Given the description of an element on the screen output the (x, y) to click on. 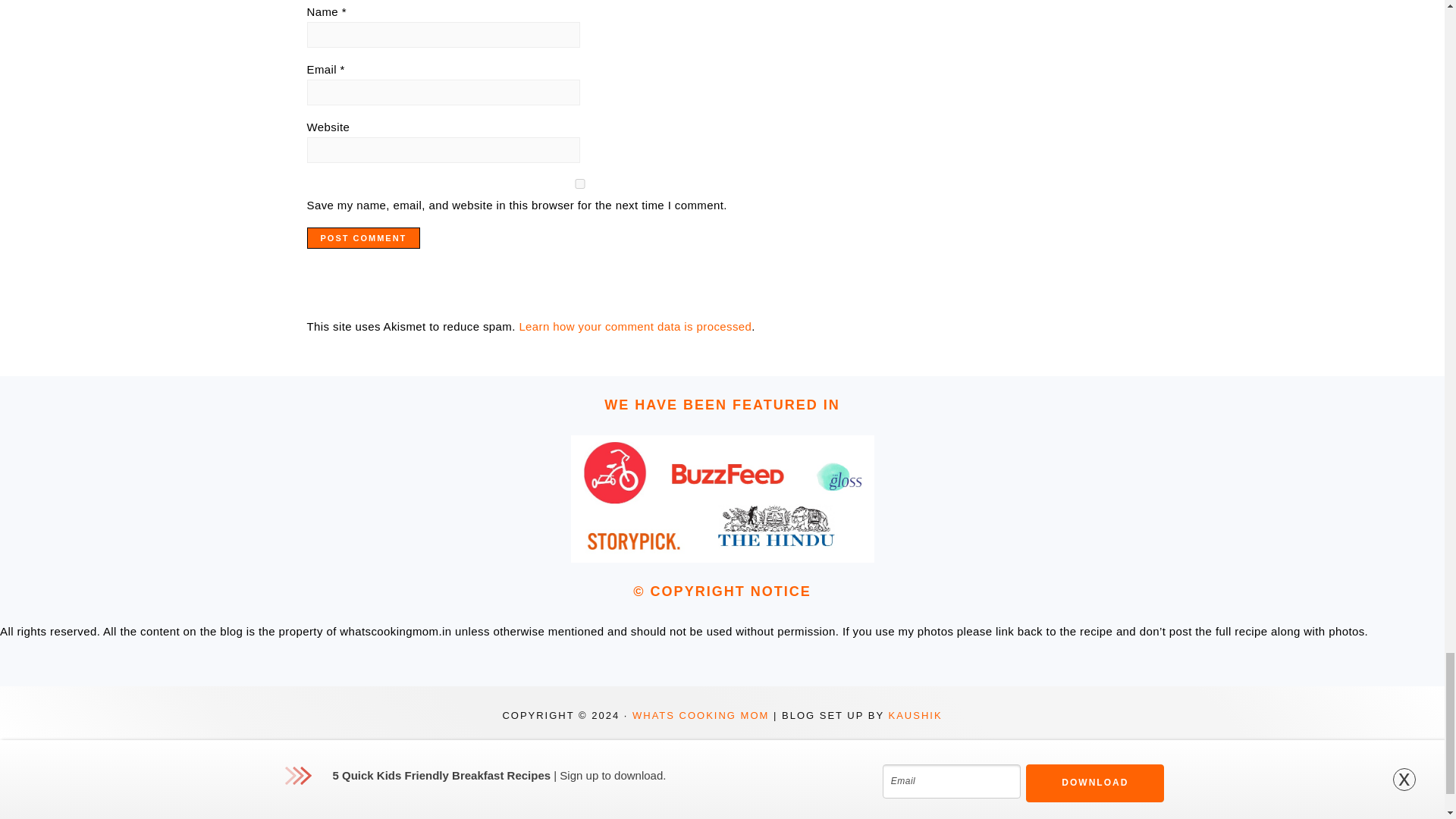
yes (578, 184)
Post Comment (362, 237)
